Given the description of an element on the screen output the (x, y) to click on. 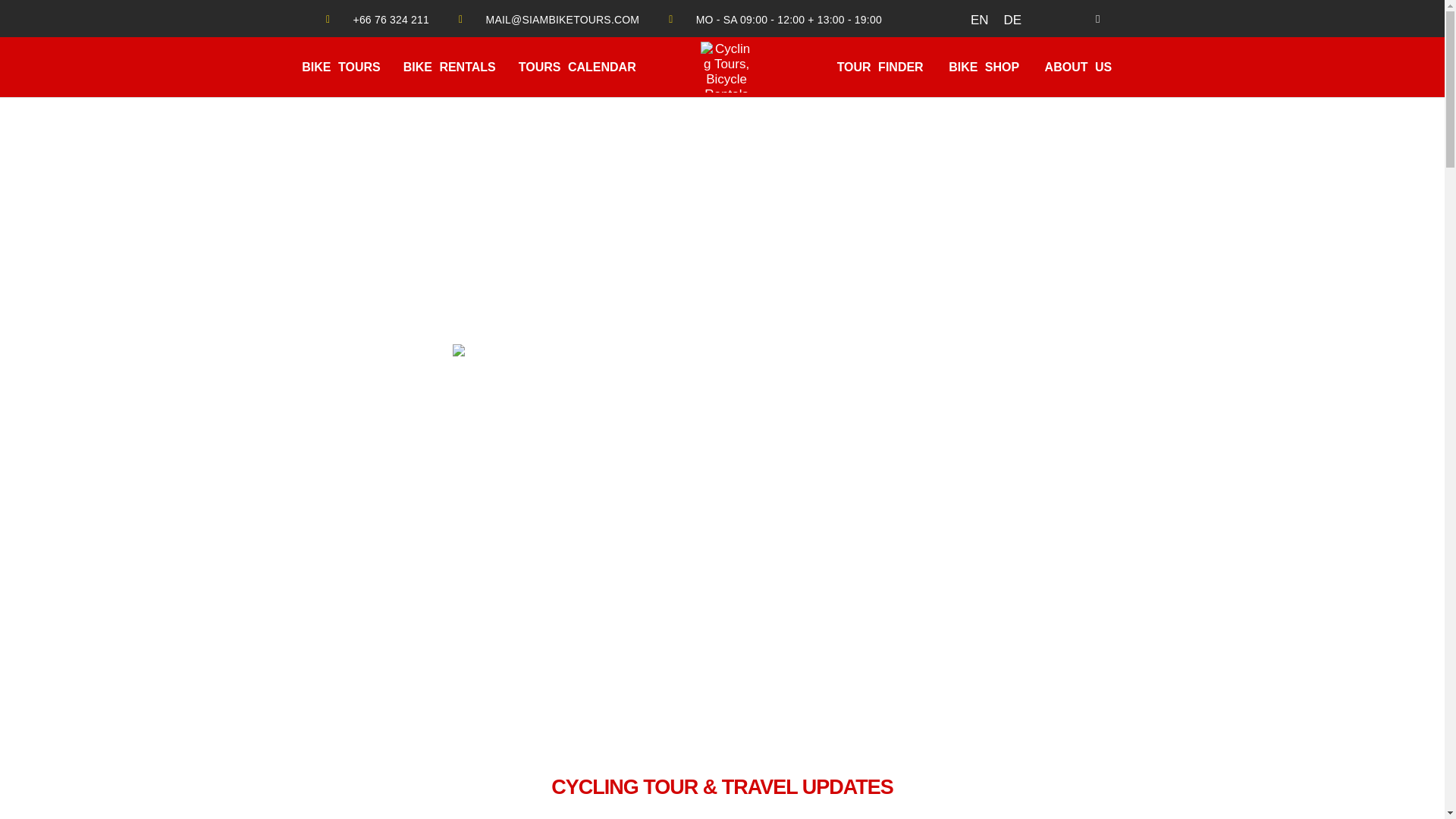
ABOUT US (1078, 66)
BIKE SHOP (983, 66)
BIKE RENTALS (448, 66)
BIKE TOURS (340, 66)
DE (1012, 20)
TOURS CALENDAR (576, 66)
TOUR FINDER (880, 66)
EN (978, 20)
Cycling Tours Siambiketours Horiz White 2006 01 (721, 367)
